Given the description of an element on the screen output the (x, y) to click on. 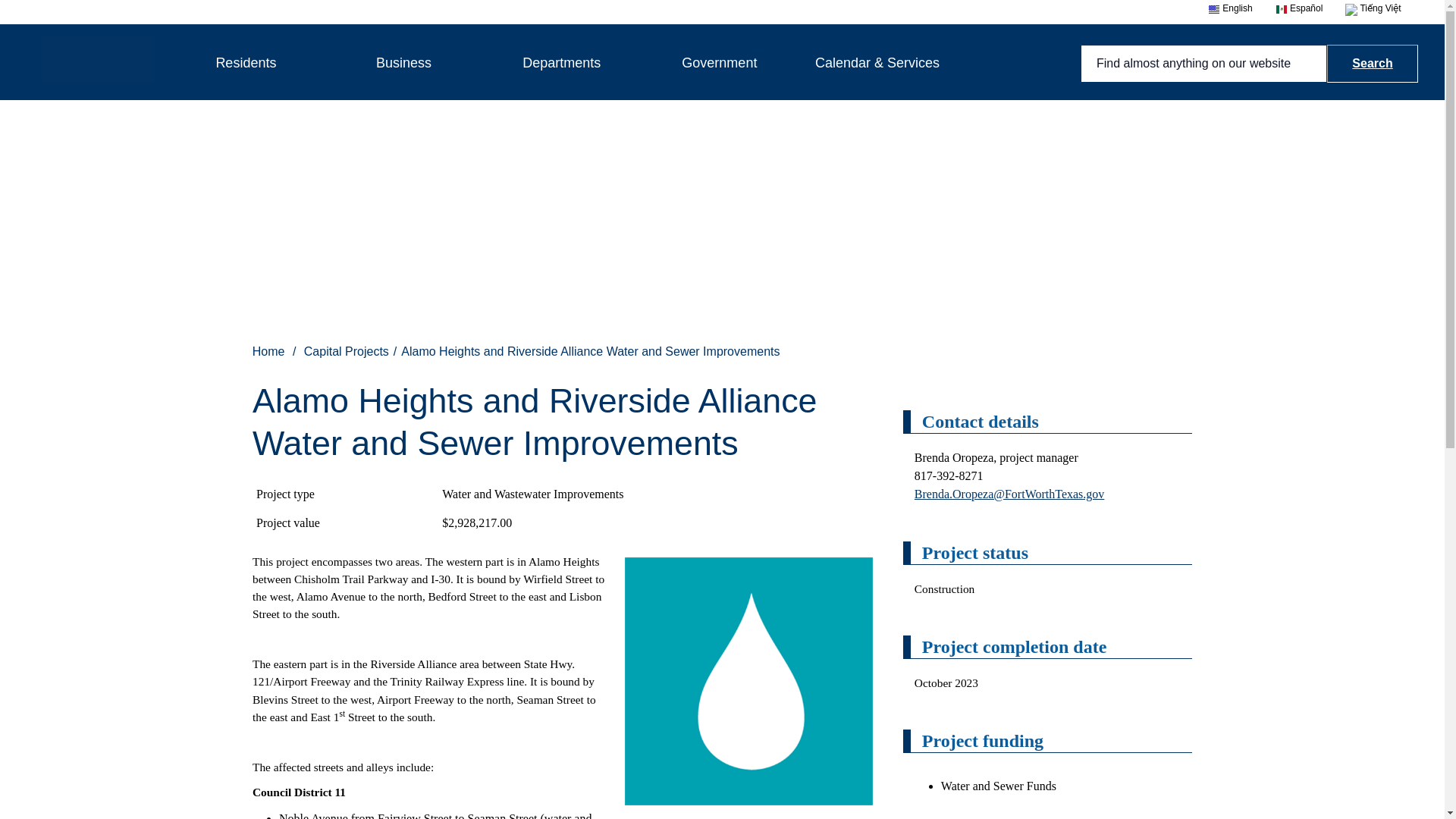
Residents (245, 63)
City of Fort Worth - Home - Logo (98, 59)
Search (1372, 63)
Search (1226, 9)
